Given the description of an element on the screen output the (x, y) to click on. 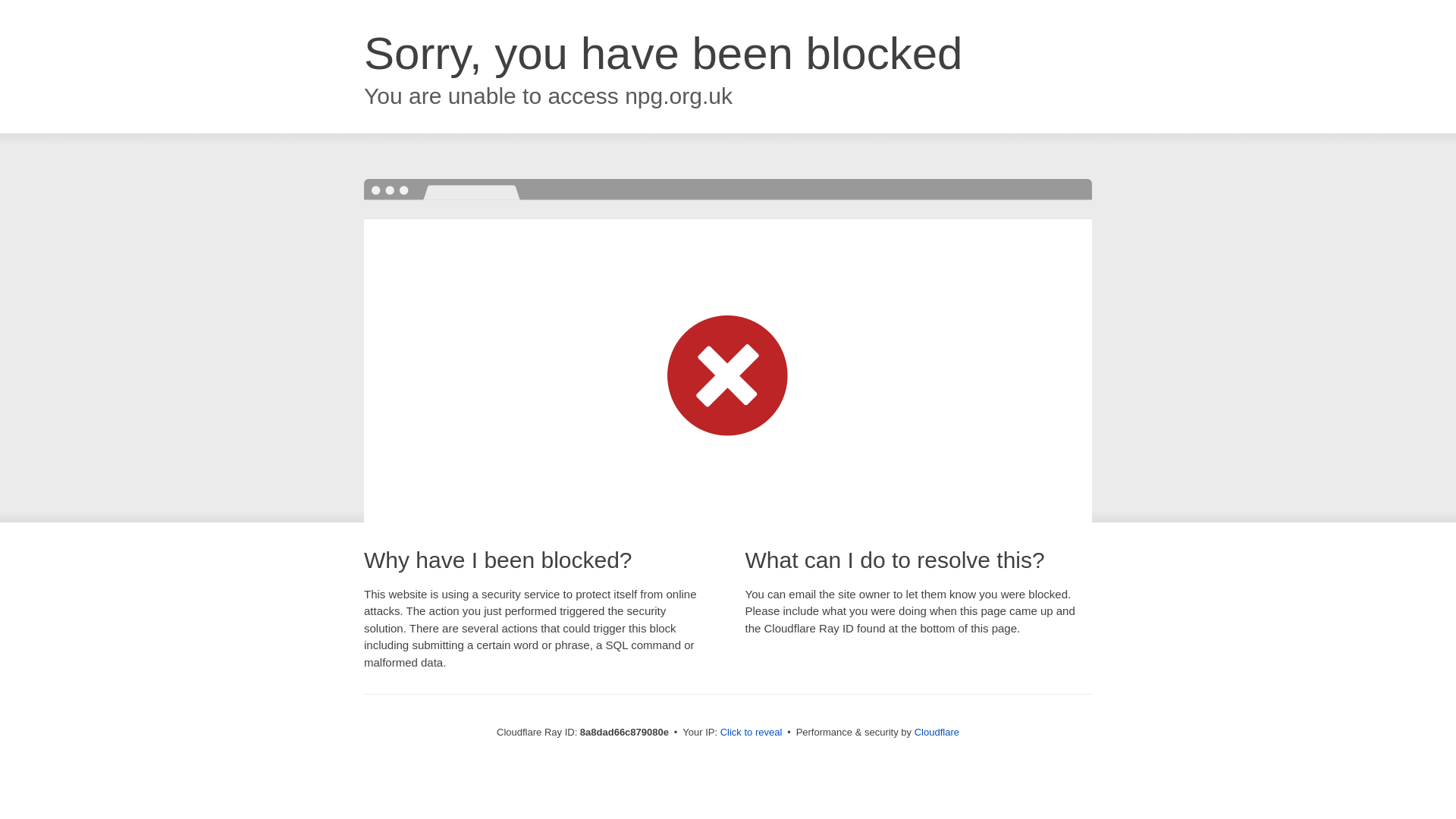
Click to reveal (751, 732)
Cloudflare (936, 731)
